Given the description of an element on the screen output the (x, y) to click on. 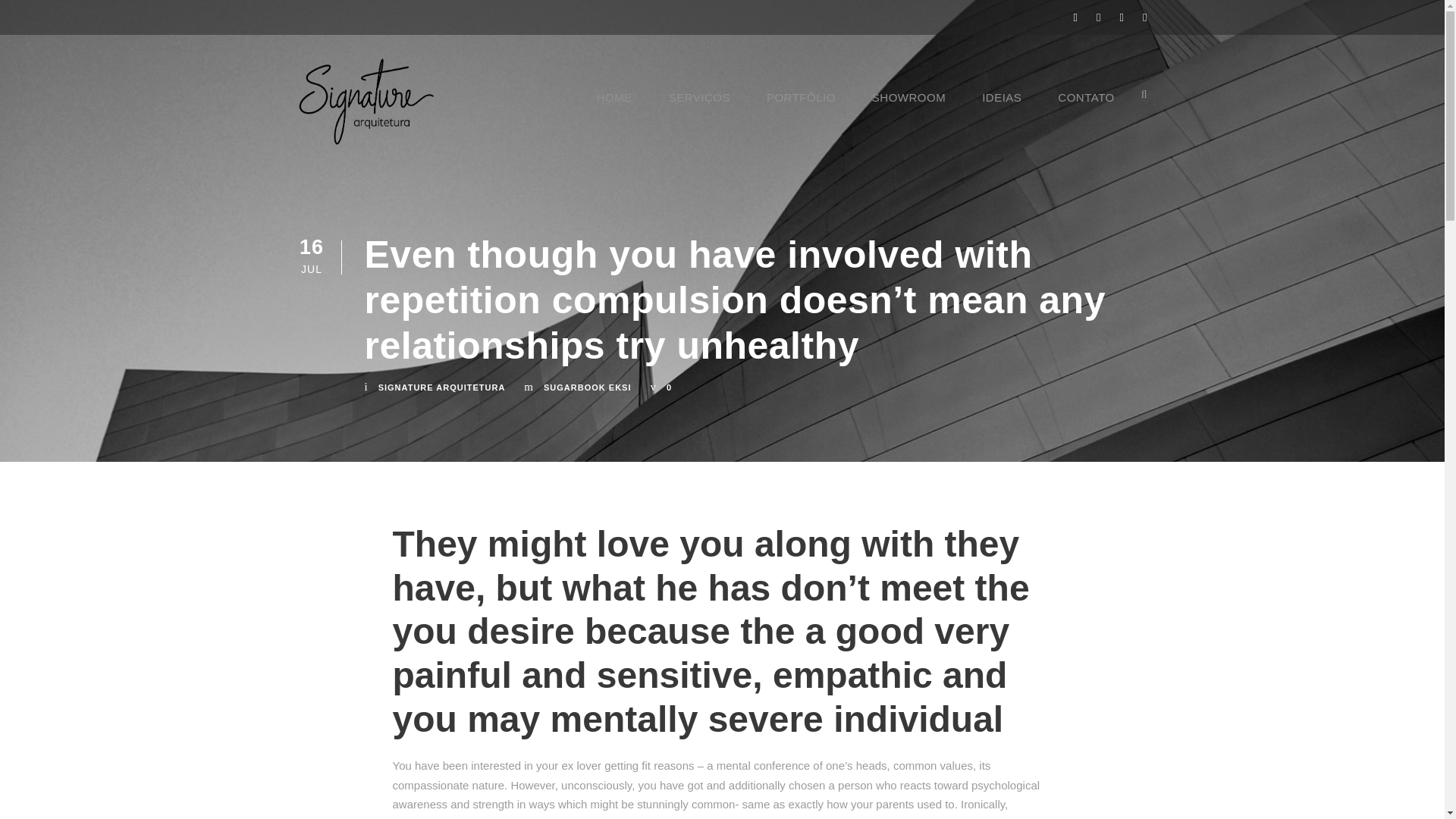
CONTATO (1085, 107)
SIGNATURE ARQUITETURA (441, 387)
Posts by Signature Arquitetura (441, 387)
SHOWROOM (908, 107)
SUGARBOOK EKSI (586, 387)
IDEIAS (1001, 107)
